Given the description of an element on the screen output the (x, y) to click on. 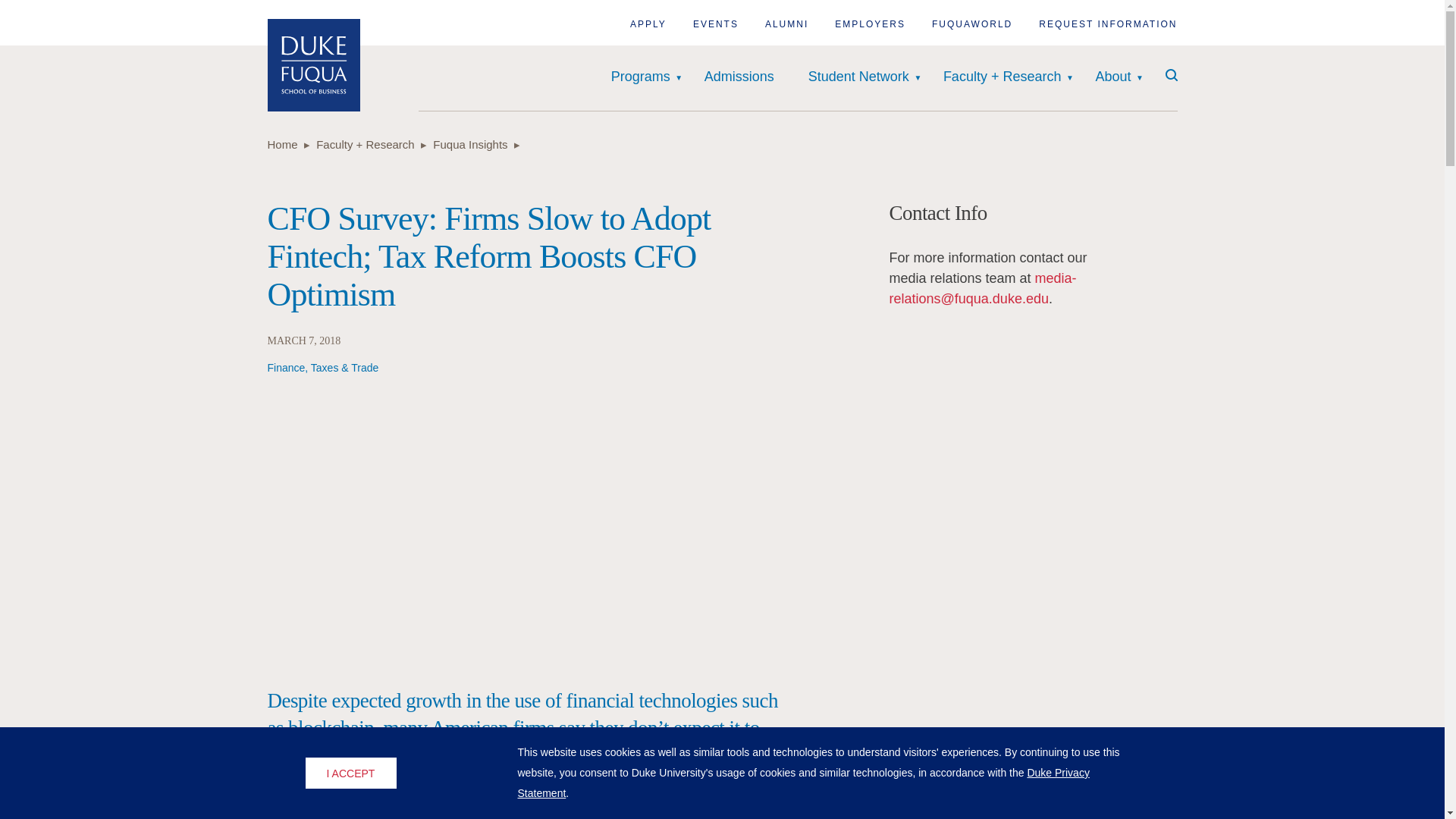
APPLY (648, 23)
Admissions (739, 76)
Home (312, 64)
Programs (640, 76)
Student Network (858, 76)
